Given the description of an element on the screen output the (x, y) to click on. 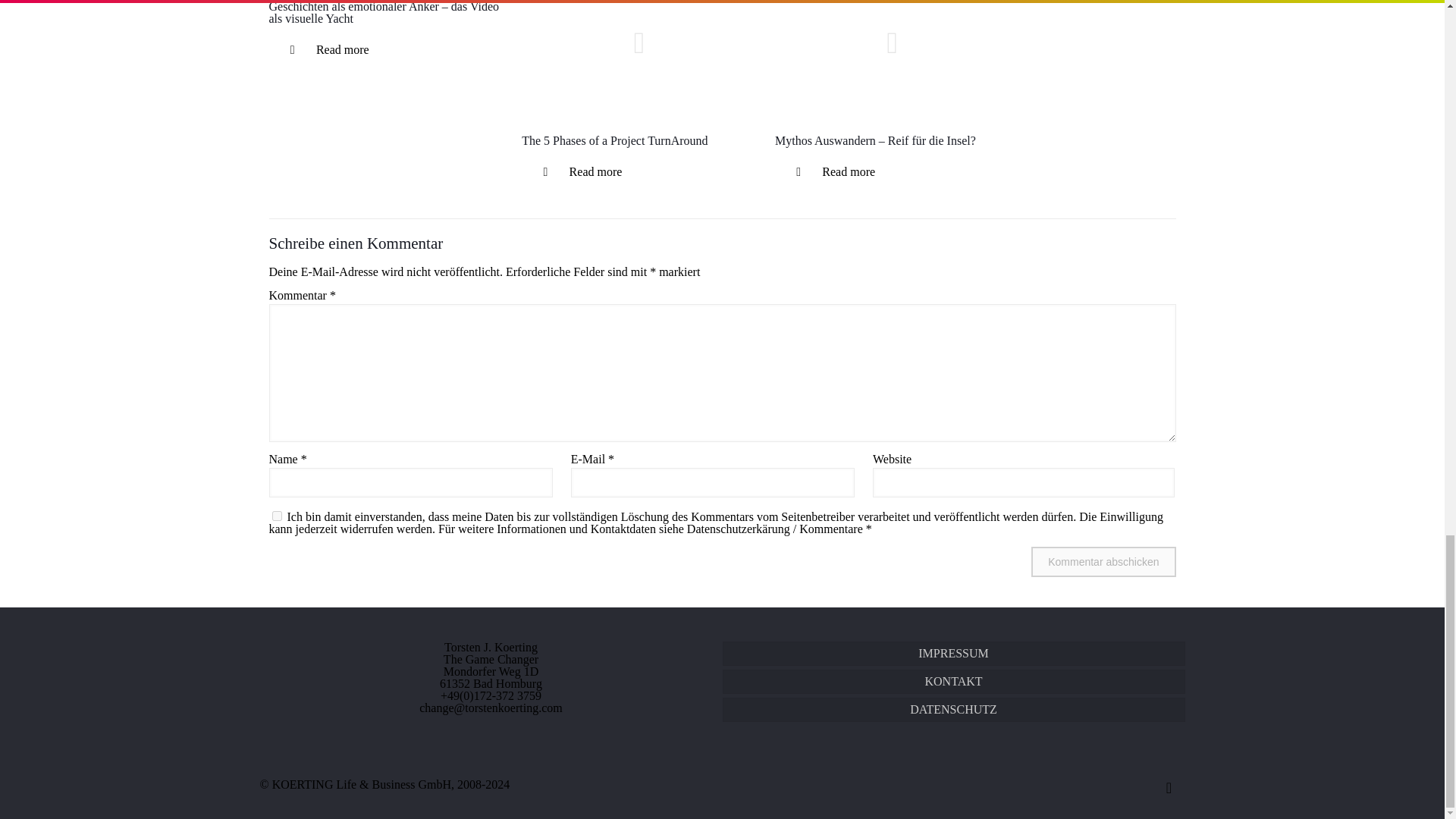
Kommentar abschicken (1102, 562)
Read more (325, 49)
Kommentar abschicken (1102, 562)
KONTAKT (953, 681)
policy-key (275, 515)
The 5 Phases of a Project TurnAround (614, 140)
Read more (579, 171)
Read more (831, 171)
IMPRESSUM (953, 653)
DATENSCHUTZ (953, 709)
